Given the description of an element on the screen output the (x, y) to click on. 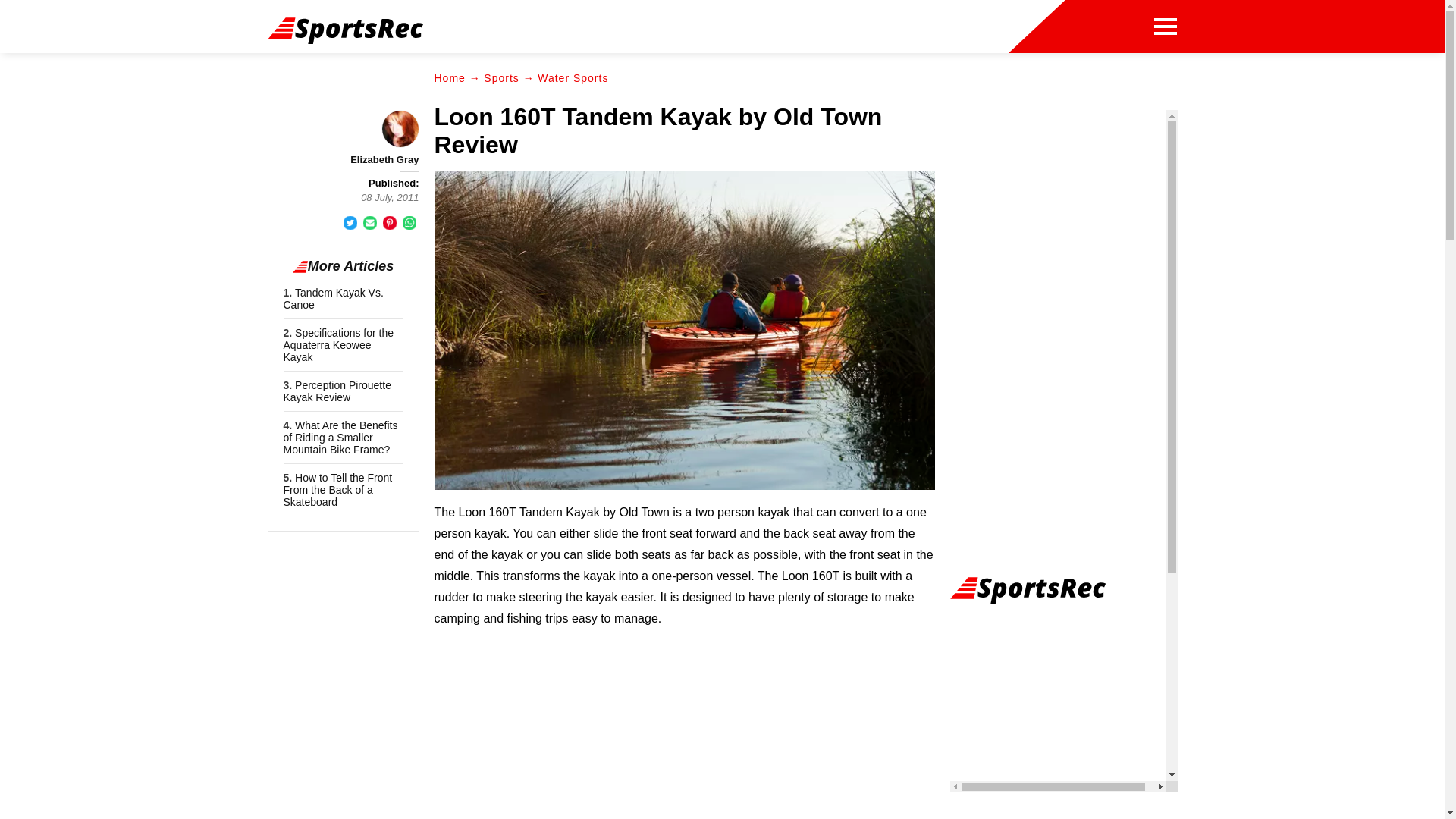
Advertisement (684, 748)
Home (448, 78)
Specifications for the Aquaterra Keowee Kayak (338, 344)
Sports (500, 78)
Tandem Kayak Vs. Canoe (333, 298)
How to Tell the Front From the Back of a Skateboard (338, 489)
Perception Pirouette Kayak Review (337, 391)
